Given the description of an element on the screen output the (x, y) to click on. 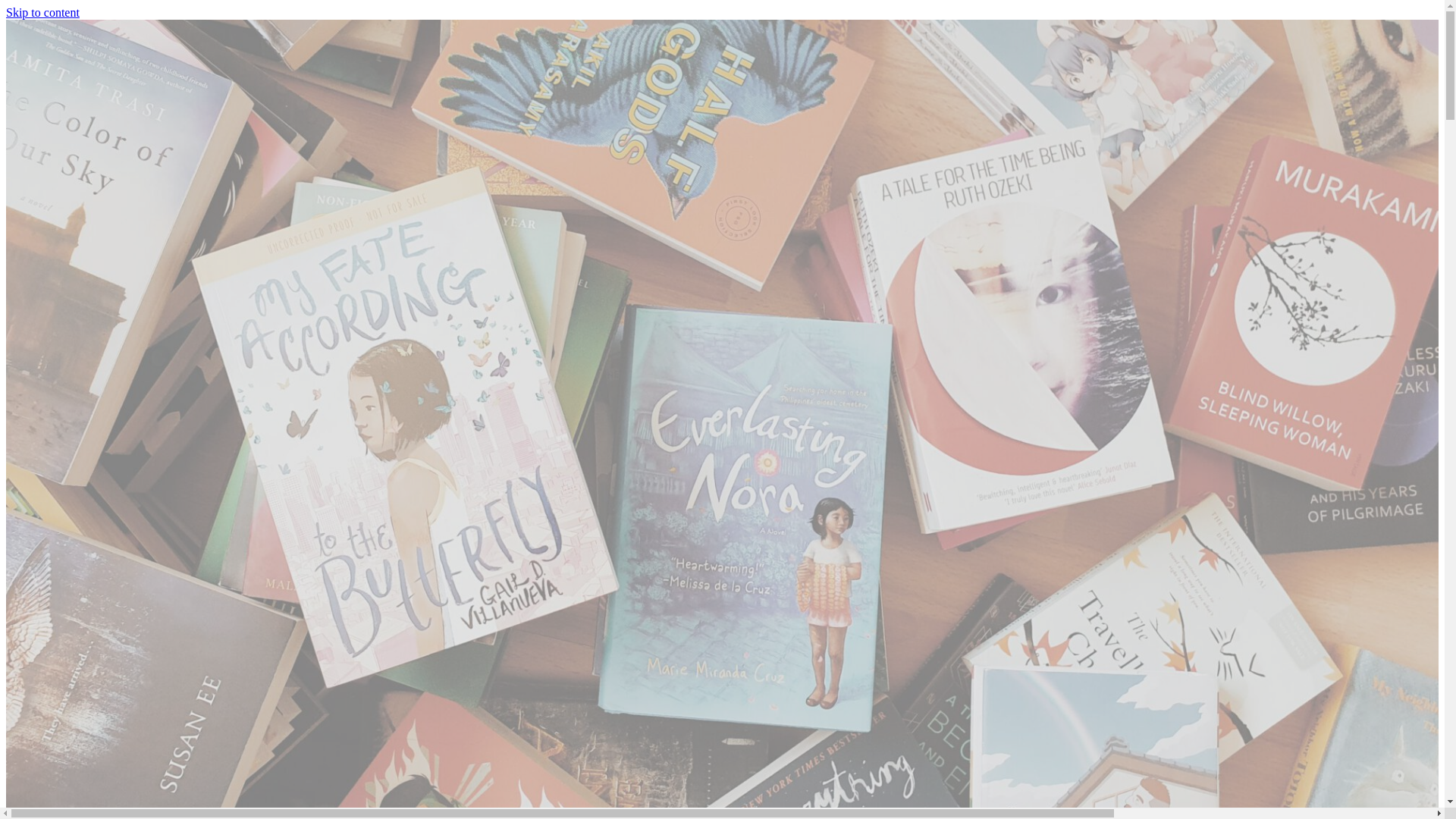
Skip to content (42, 11)
